Given the description of an element on the screen output the (x, y) to click on. 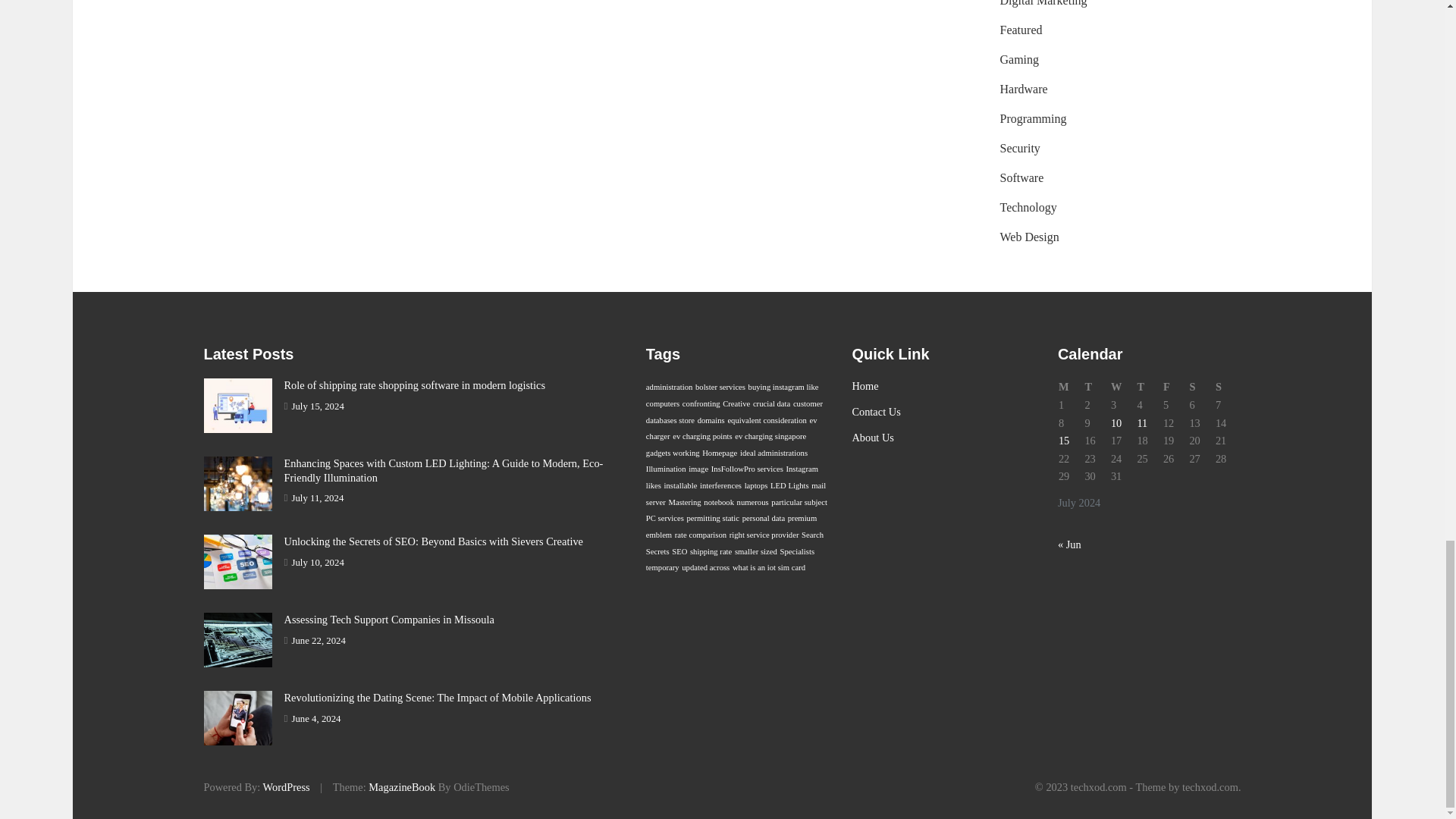
Friday (1175, 387)
Wednesday (1123, 387)
Sunday (1227, 387)
Saturday (1201, 387)
Thursday (1148, 387)
Monday (1071, 387)
Tuesday (1096, 387)
